Given the description of an element on the screen output the (x, y) to click on. 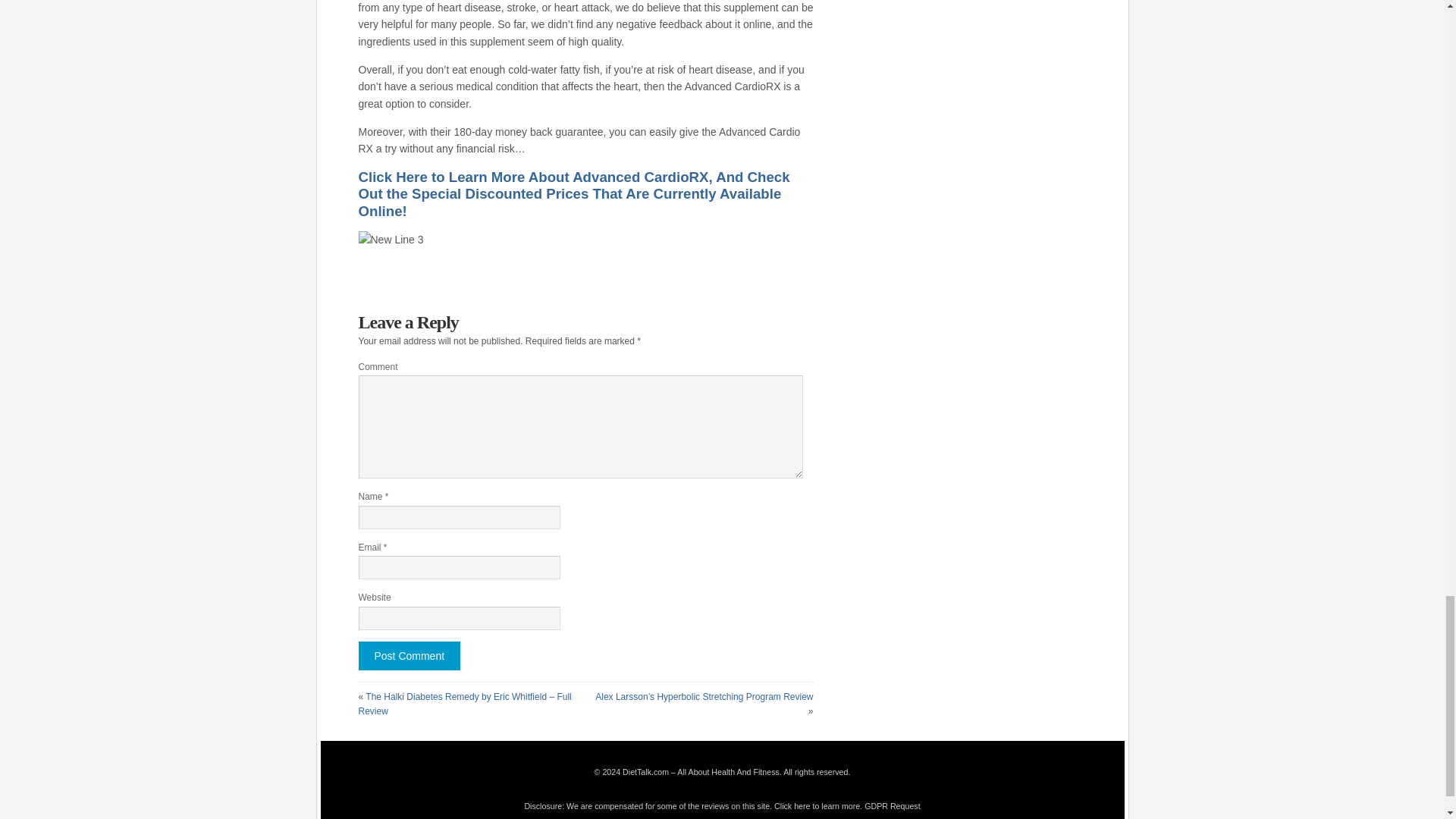
Post Comment (409, 655)
Post Comment (409, 655)
